Given the description of an element on the screen output the (x, y) to click on. 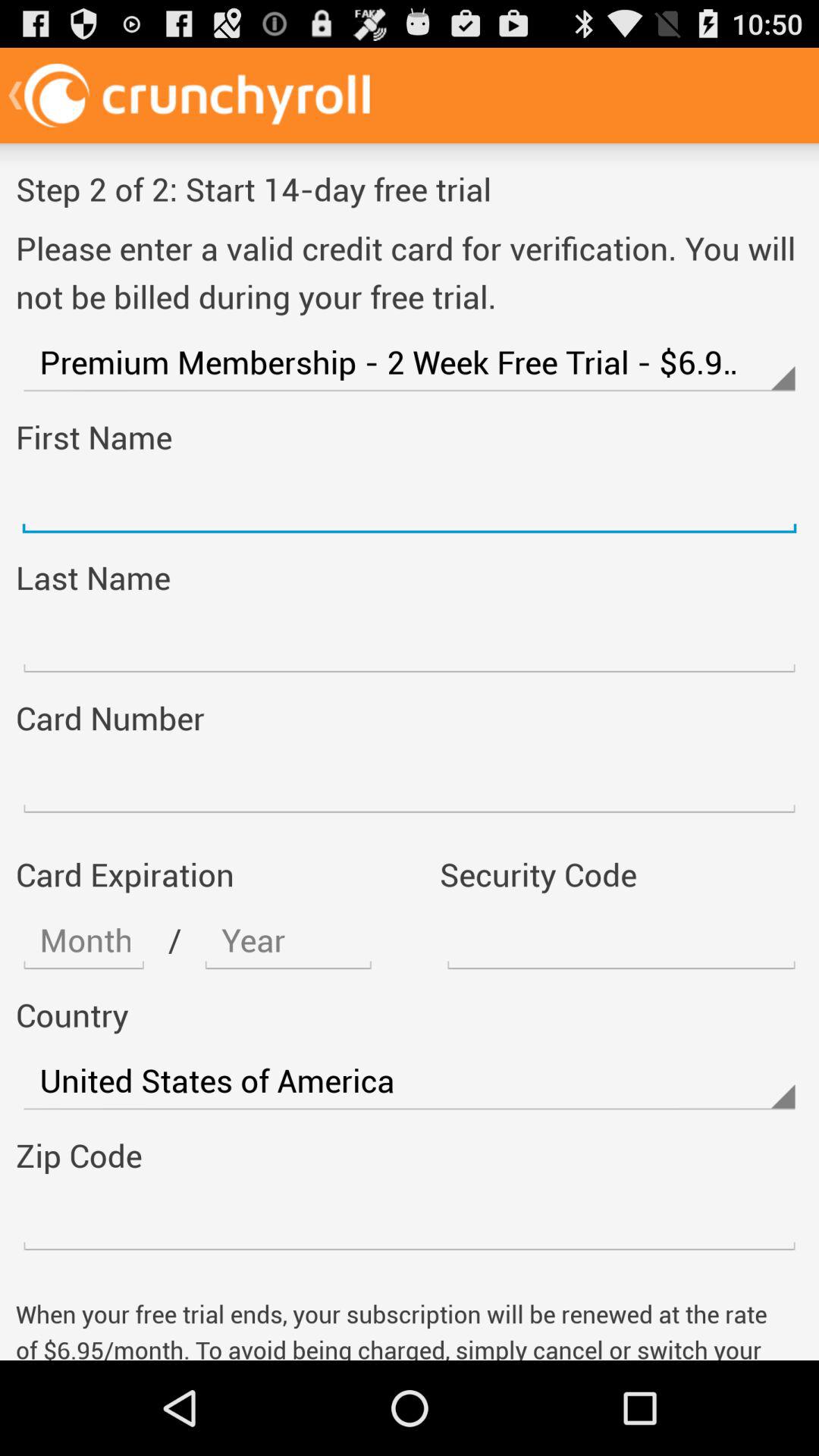
type number button (409, 1221)
